Given the description of an element on the screen output the (x, y) to click on. 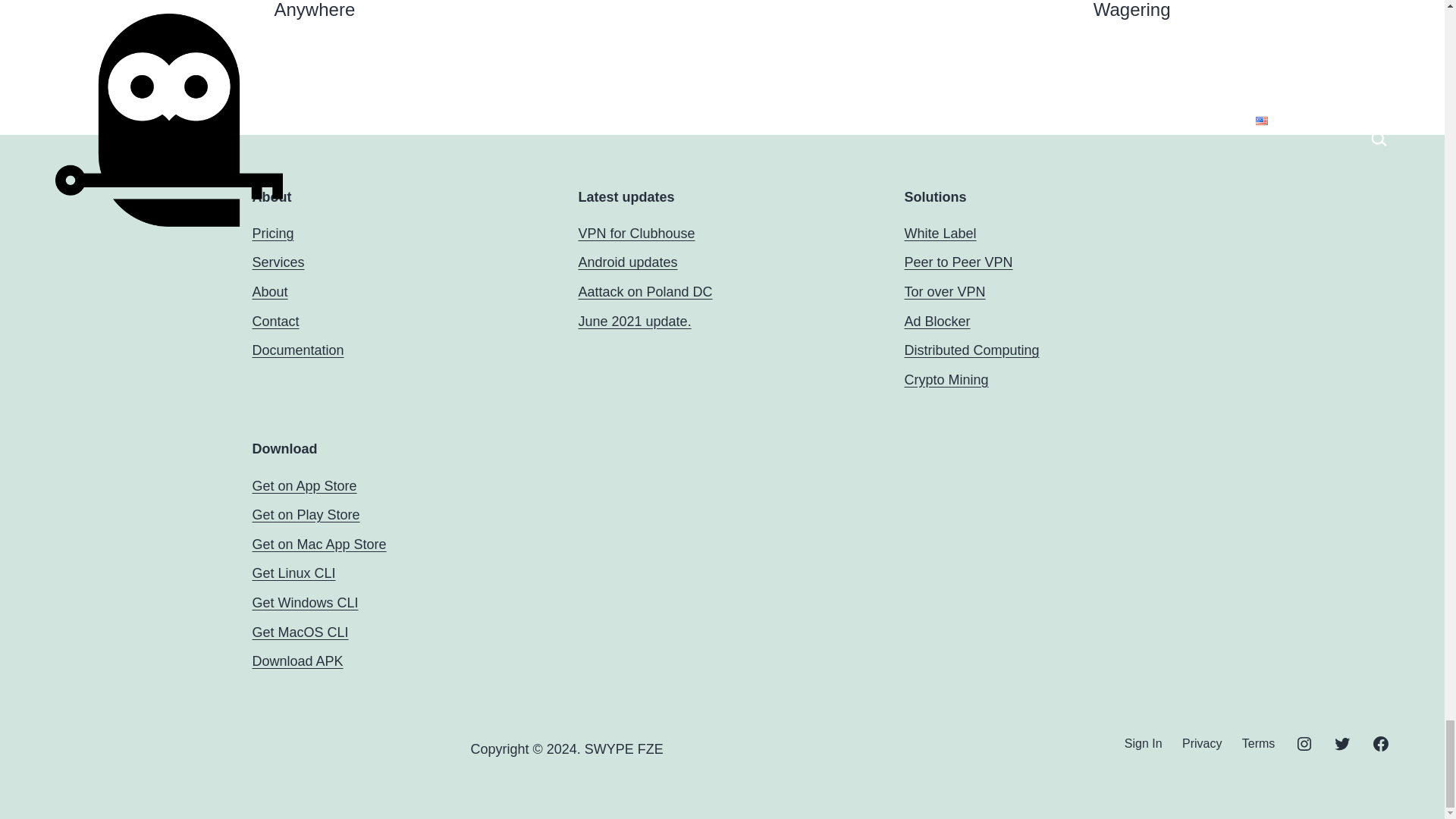
Download APK (296, 661)
Crypto Mining (946, 379)
Get on App Store (303, 485)
Get MacOS CLI (299, 631)
Get on Mac App Store (318, 544)
Peer to Peer VPN (957, 262)
Get Windows CLI (304, 602)
June 2021 update. (634, 321)
Get on Play Store (305, 514)
Get Linux CLI (292, 572)
Aattack on Poland DC (644, 291)
Pricing (272, 233)
White Label (939, 233)
About (268, 291)
Contact (274, 321)
